Given the description of an element on the screen output the (x, y) to click on. 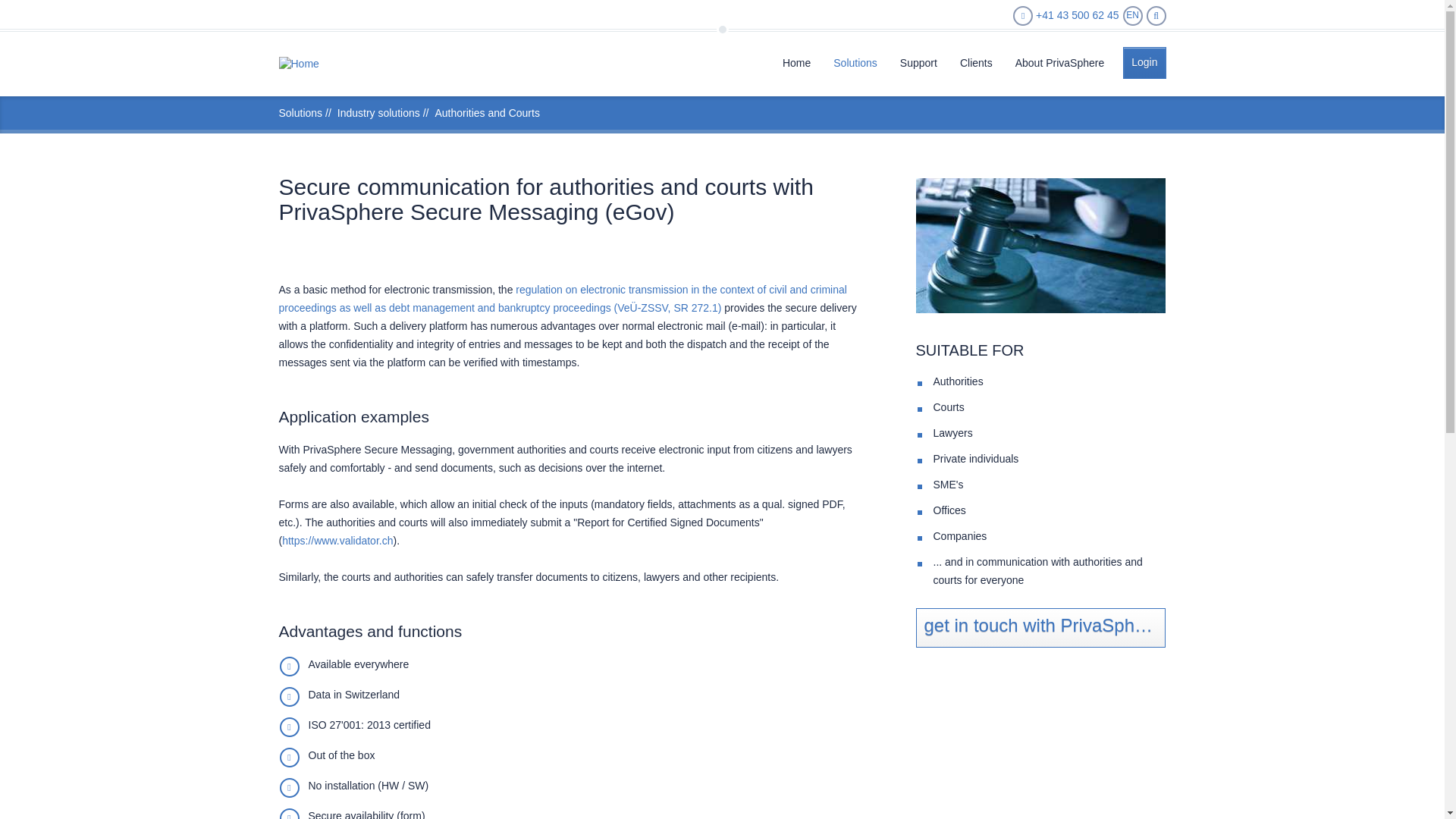
EN (1131, 15)
About PrivaSphere (1060, 61)
Opens internal link in current window (337, 540)
Opens internal link in current window (563, 298)
Solutions (855, 61)
Home (298, 64)
Support (918, 61)
Clients (976, 61)
